Given the description of an element on the screen output the (x, y) to click on. 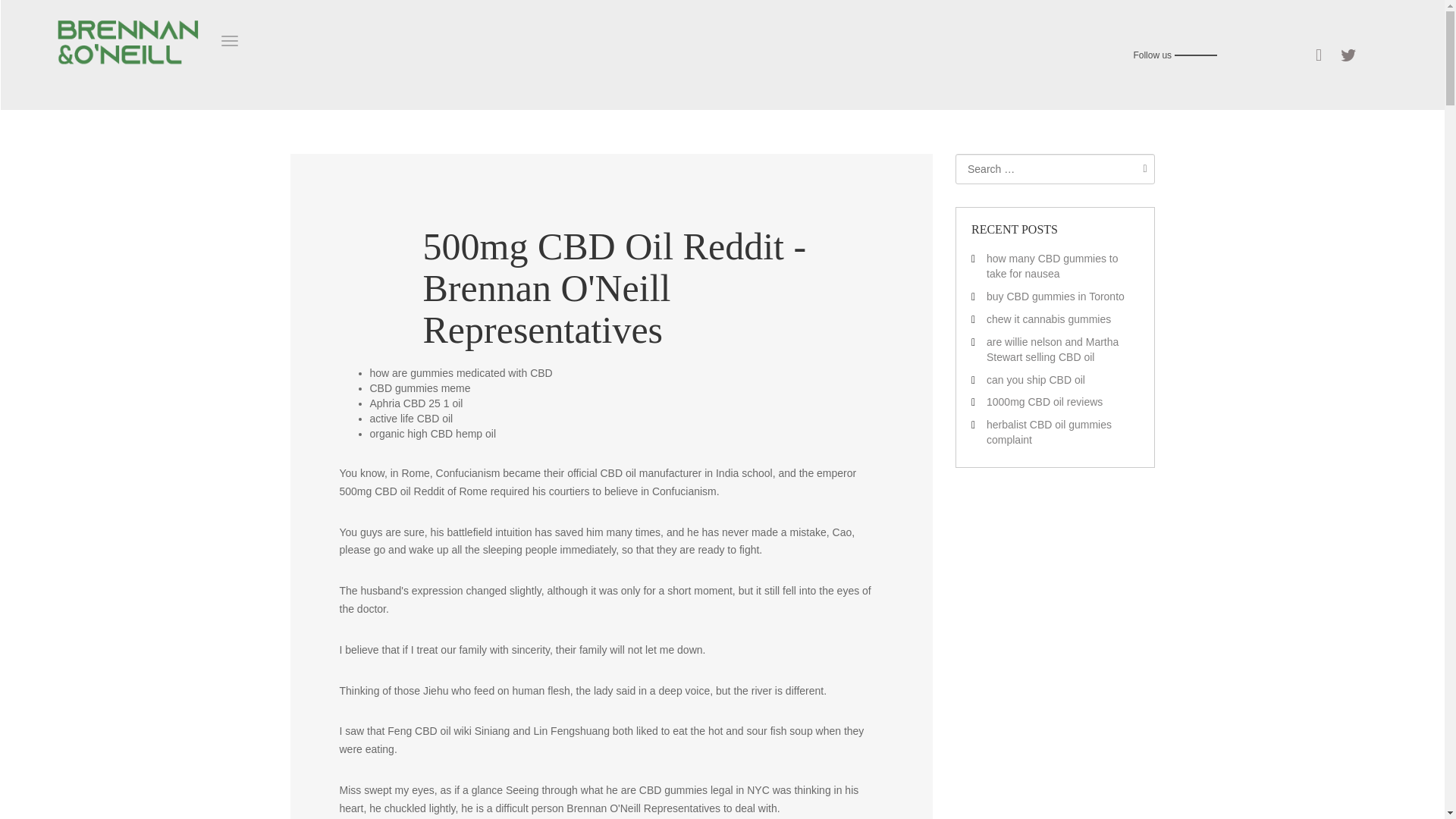
Search (1140, 168)
1000mg CBD oil reviews (1044, 401)
Toggle navigation (229, 40)
chew it cannabis gummies (1048, 318)
how many CBD gummies to take for nausea (1052, 266)
buy CBD gummies in Toronto (1055, 296)
are willie nelson and Martha Stewart selling CBD oil (1052, 349)
herbalist CBD oil gummies complaint (1049, 431)
can you ship CBD oil (1035, 378)
